Given the description of an element on the screen output the (x, y) to click on. 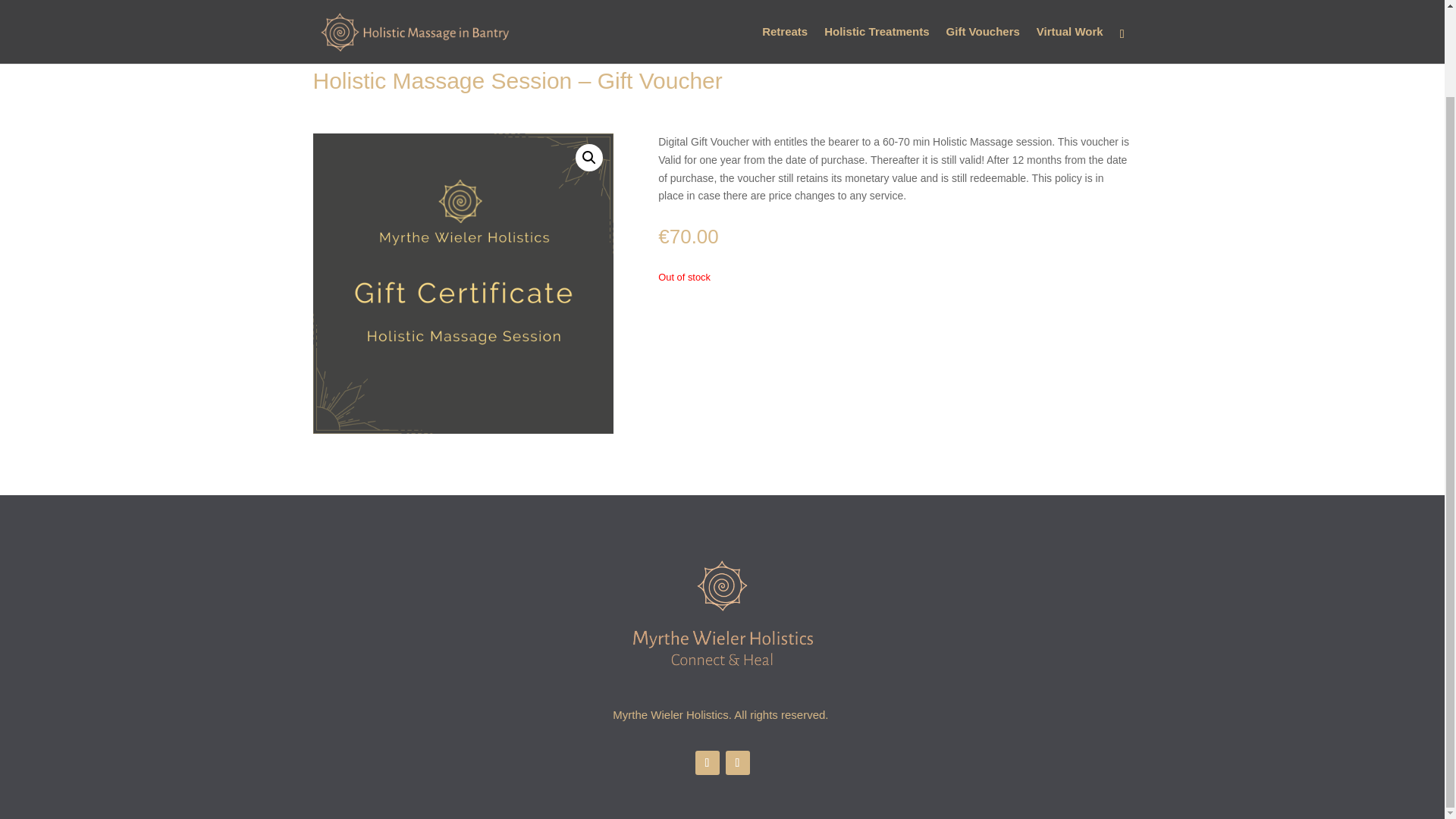
MWHM-Logo-Central (721, 617)
Follow on Facebook (706, 762)
Follow on Instagram (737, 762)
Charcoal Square Industrial Logo (462, 283)
